Given the description of an element on the screen output the (x, y) to click on. 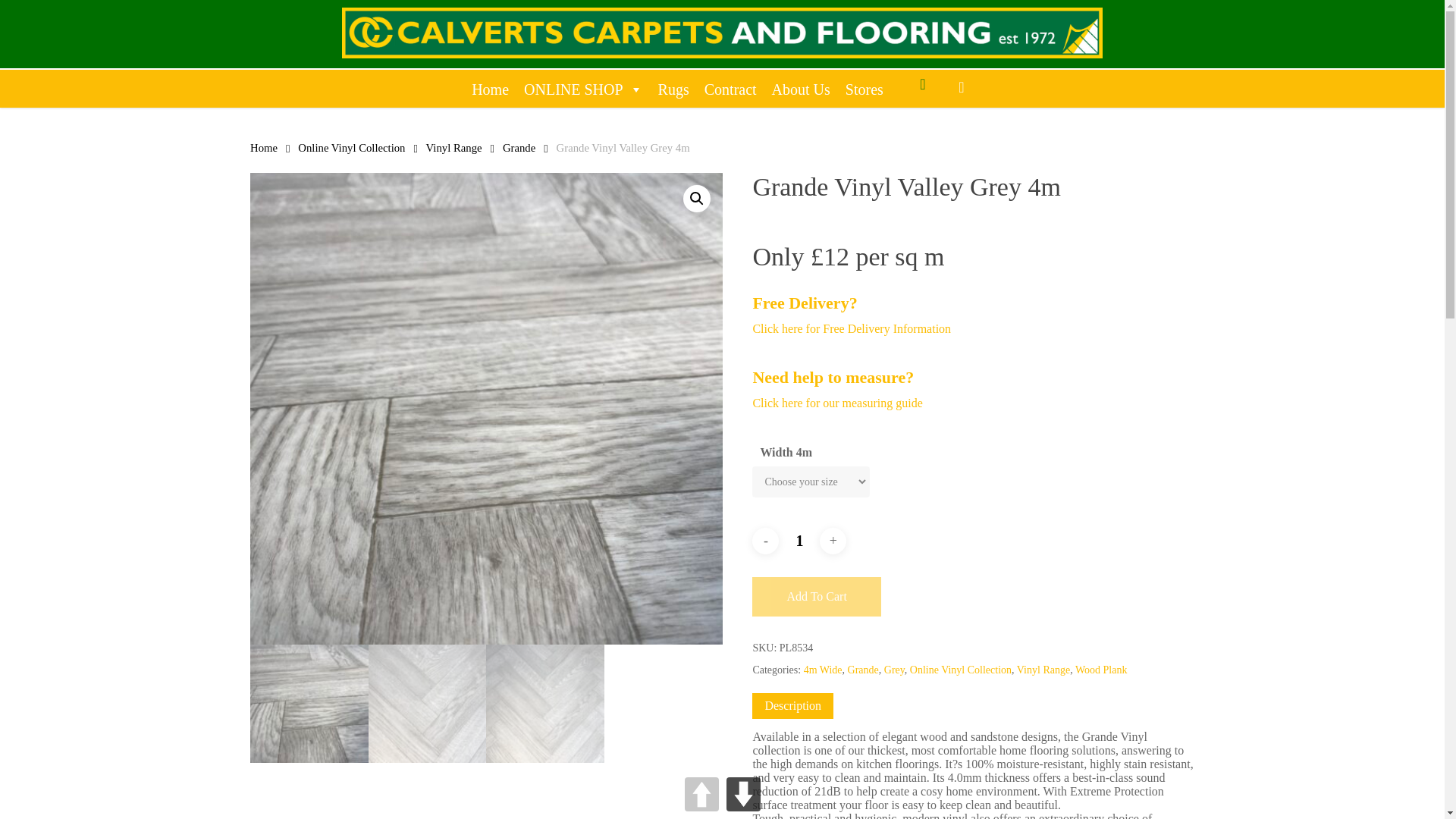
Add To Cart (816, 596)
Click here for our measuring guide (836, 402)
Grey (893, 669)
Click here for Free Delivery Information (851, 328)
ONLINE SHOP (583, 89)
Stores (864, 89)
- (765, 540)
Contract (730, 89)
Online Vinyl Collection (960, 669)
1 (798, 540)
Grande (863, 669)
Vinyl Range (453, 147)
4m Wide (823, 669)
Home (490, 89)
